Given the description of an element on the screen output the (x, y) to click on. 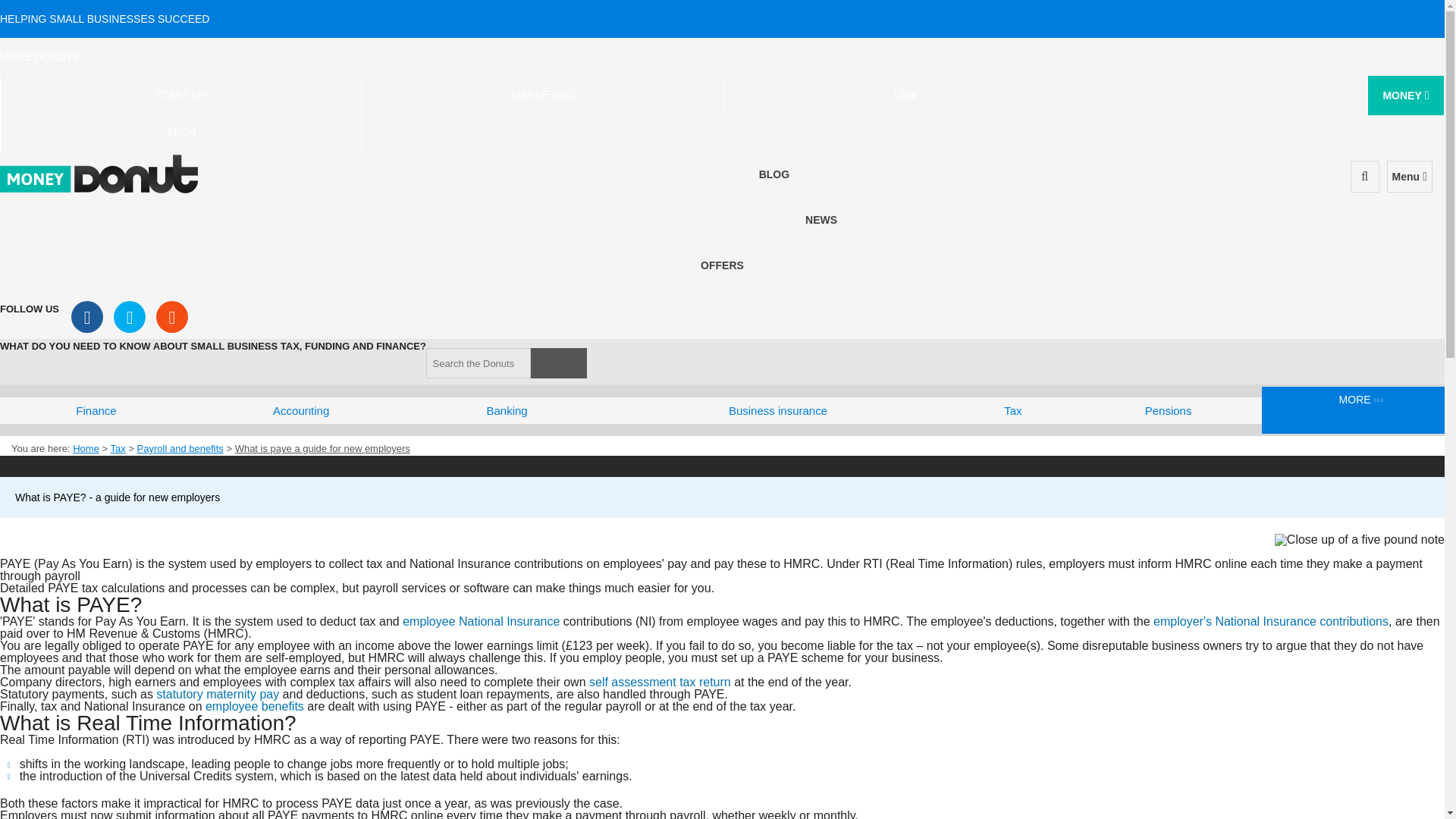
Business insurance (777, 410)
Employer's National Insurance contributions (1271, 621)
Pensions (1168, 410)
Enter the terms you wish to search for. (478, 363)
Employee National Insurance (481, 621)
Banking (506, 410)
Menu (1409, 176)
MONEY (1405, 95)
NEWS (821, 219)
Finance (96, 410)
